Given the description of an element on the screen output the (x, y) to click on. 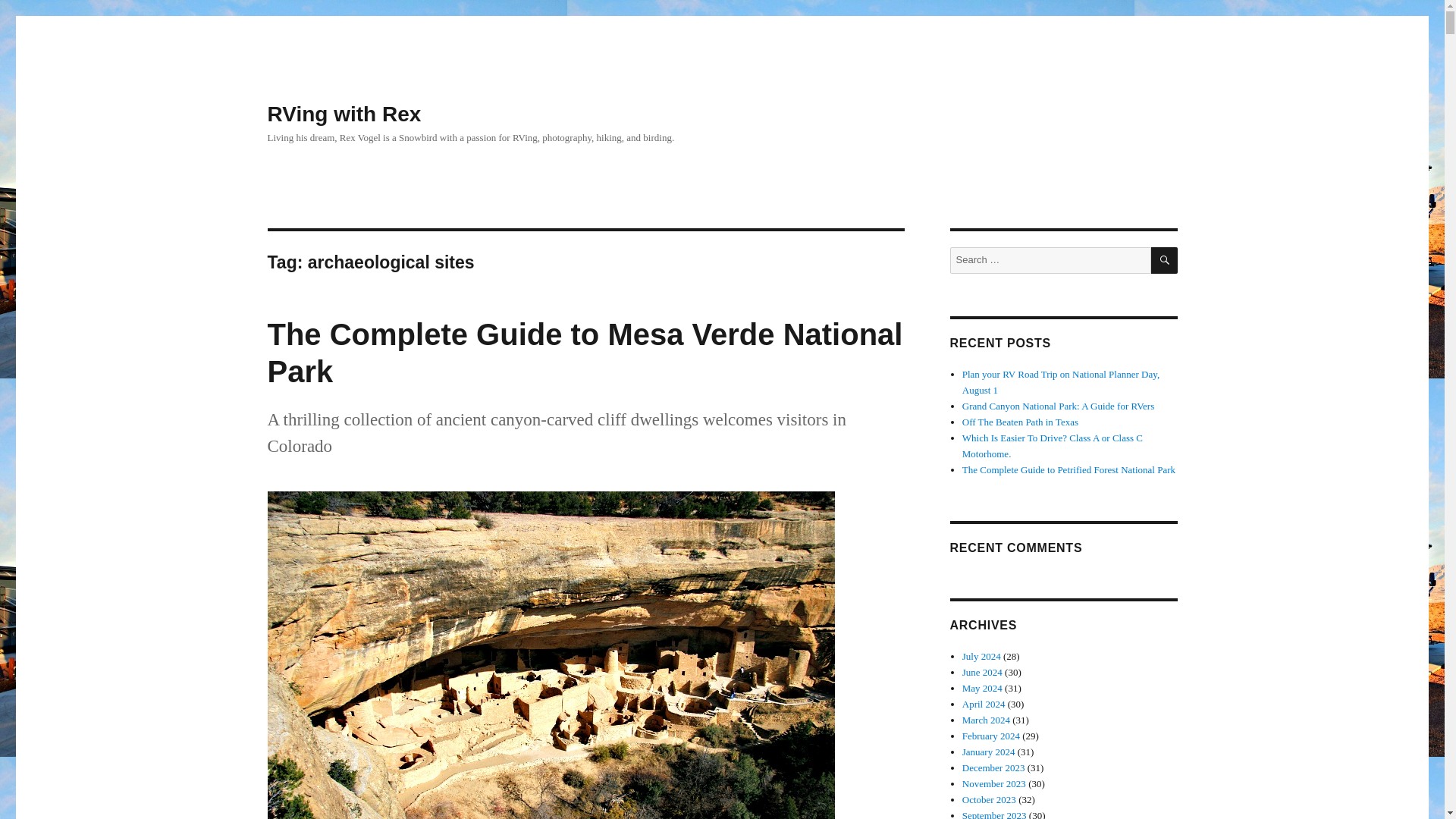
The Complete Guide to Mesa Verde National Park (584, 352)
RVing with Rex (343, 114)
